Given the description of an element on the screen output the (x, y) to click on. 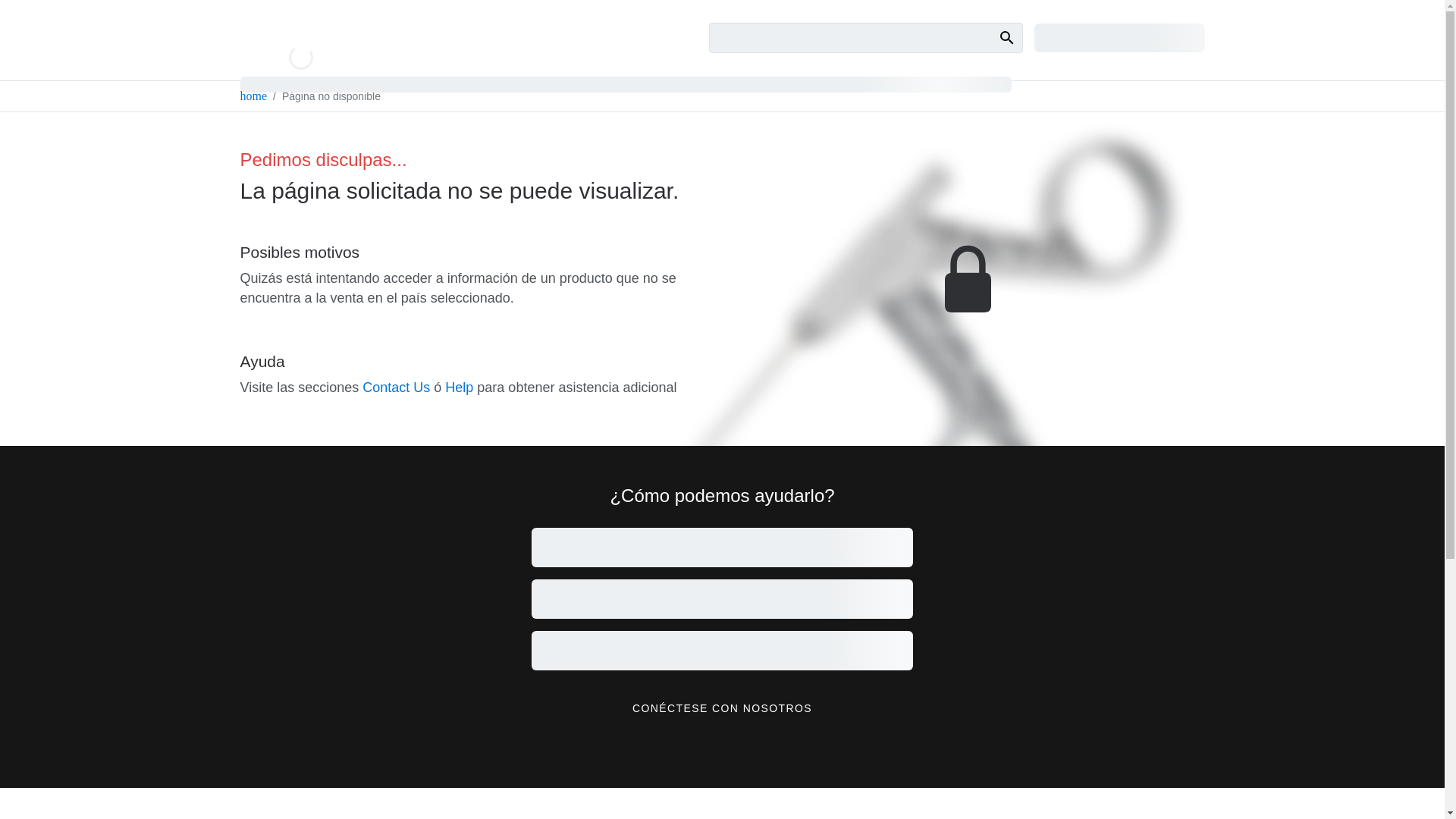
Help (459, 387)
home (253, 96)
Help (459, 387)
Contact Us (395, 387)
Contact Us (395, 387)
